Given the description of an element on the screen output the (x, y) to click on. 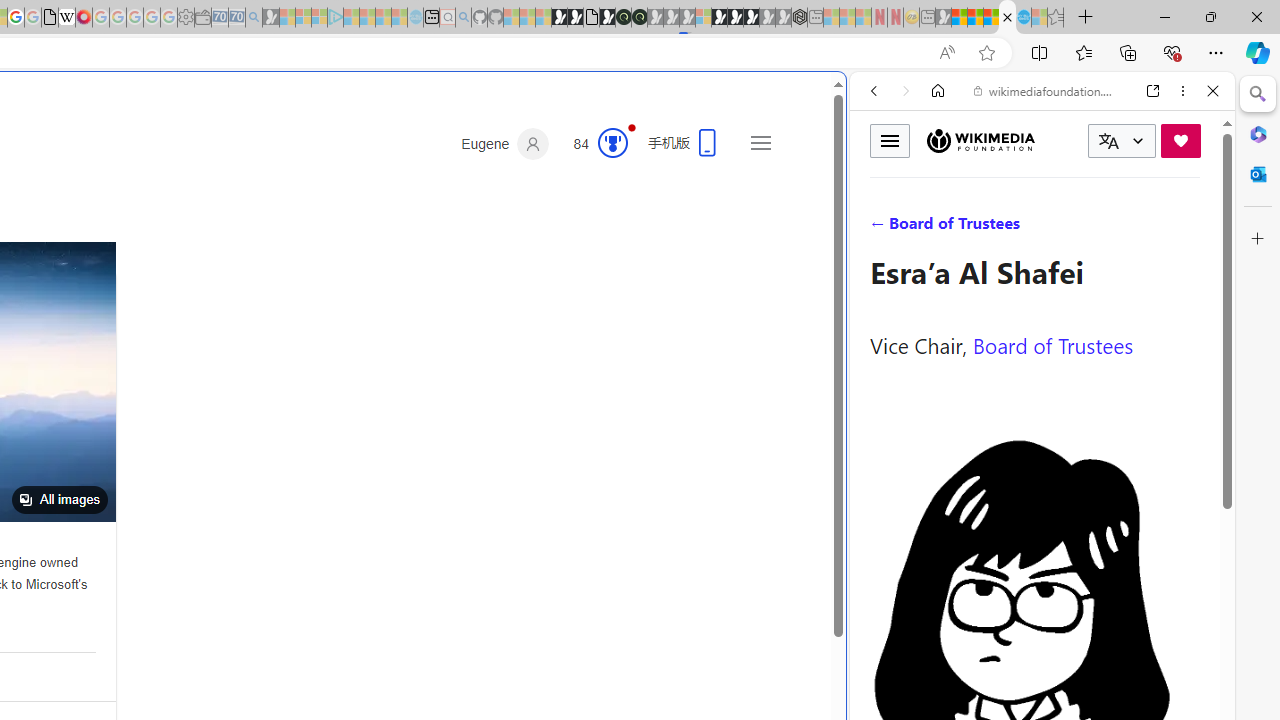
Settings - Sleeping (185, 17)
MSN - Sleeping (943, 17)
Play Free Online Games | Games from Microsoft Start (735, 17)
Search Filter, WEB (882, 228)
Frequently visited (418, 265)
Services - Maintenance | Sky Blue Bikes - Sky Blue Bikes (1023, 17)
SEARCH TOOLS (1093, 228)
Search or enter web address (343, 191)
